Given the description of an element on the screen output the (x, y) to click on. 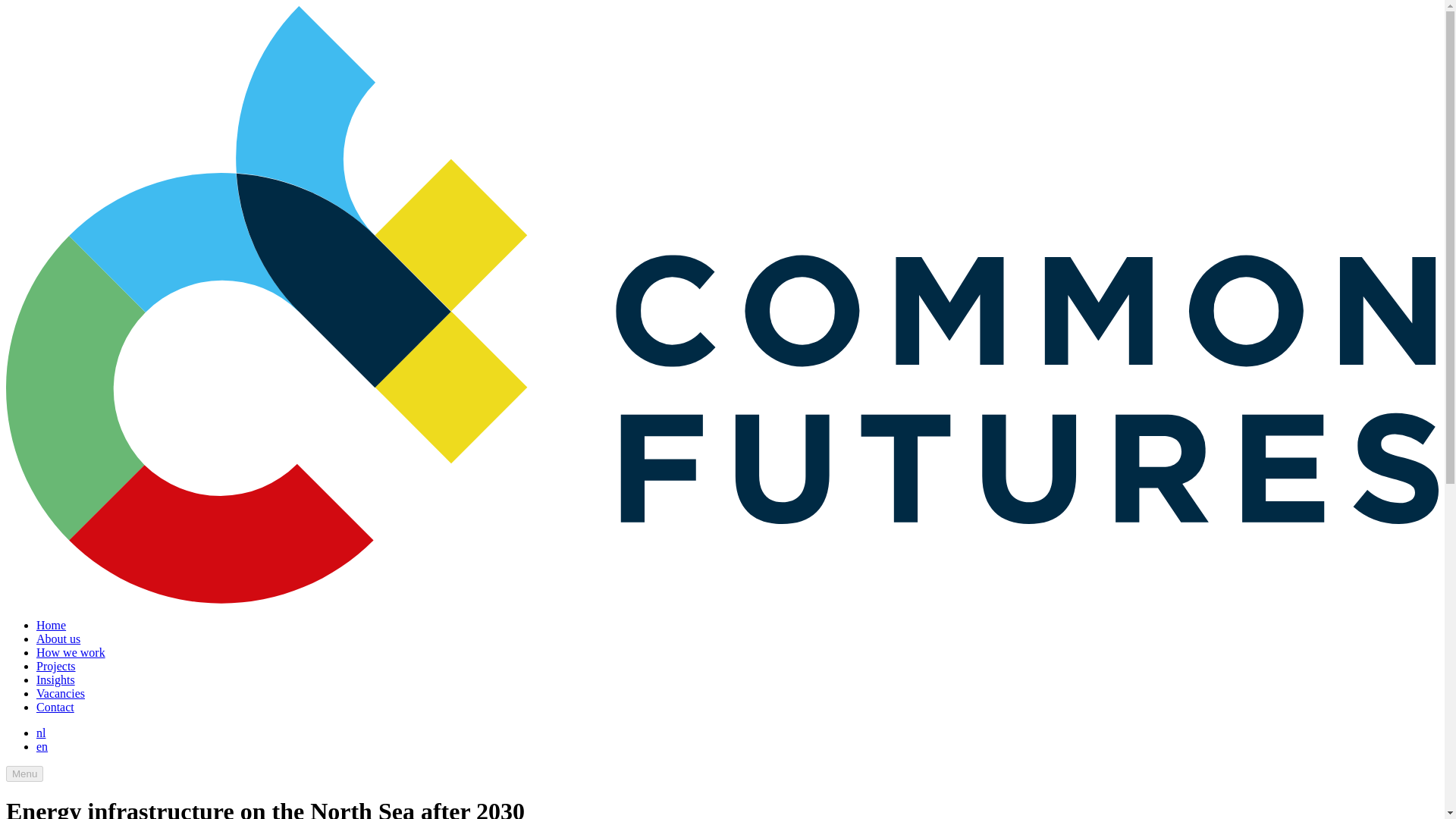
Menu (24, 773)
Projects (55, 666)
Vacancies (60, 693)
About us (58, 638)
Insights (55, 679)
How we work (70, 652)
Home (50, 625)
Contact (55, 707)
